Given the description of an element on the screen output the (x, y) to click on. 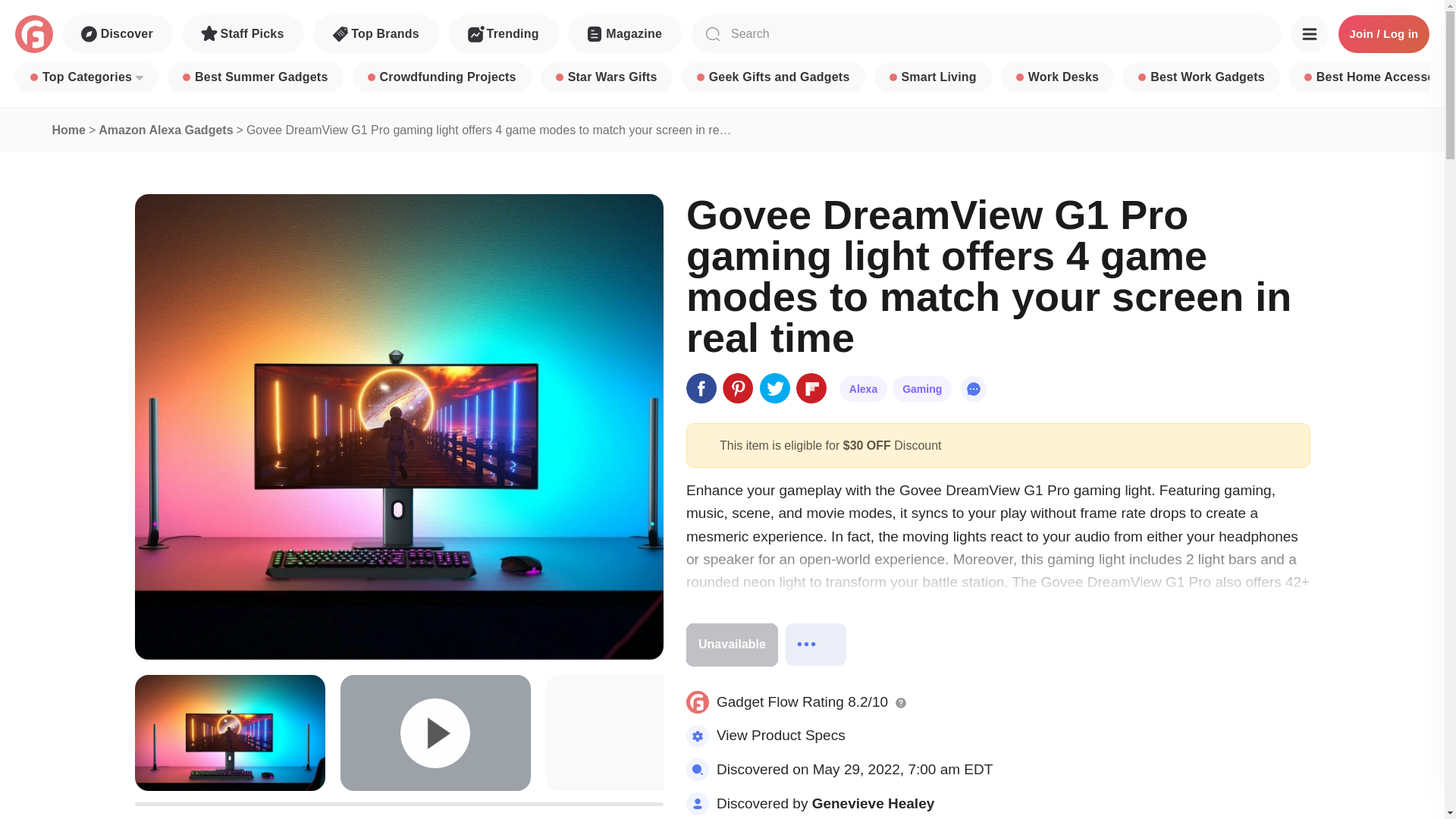
Top Categories (86, 77)
Top Brands (376, 34)
Best Work Gadgets (1200, 77)
Geek Gifts and Gadgets (772, 77)
Magazine (624, 34)
Crowdfunding Projects (441, 77)
Smart Living (932, 77)
Staff Picks (243, 34)
Star Wars Gifts (606, 77)
Best Summer Gadgets (254, 77)
Gadget Flow (33, 34)
Work Desks (1057, 77)
Trending (503, 34)
Discover (117, 34)
